Given the description of an element on the screen output the (x, y) to click on. 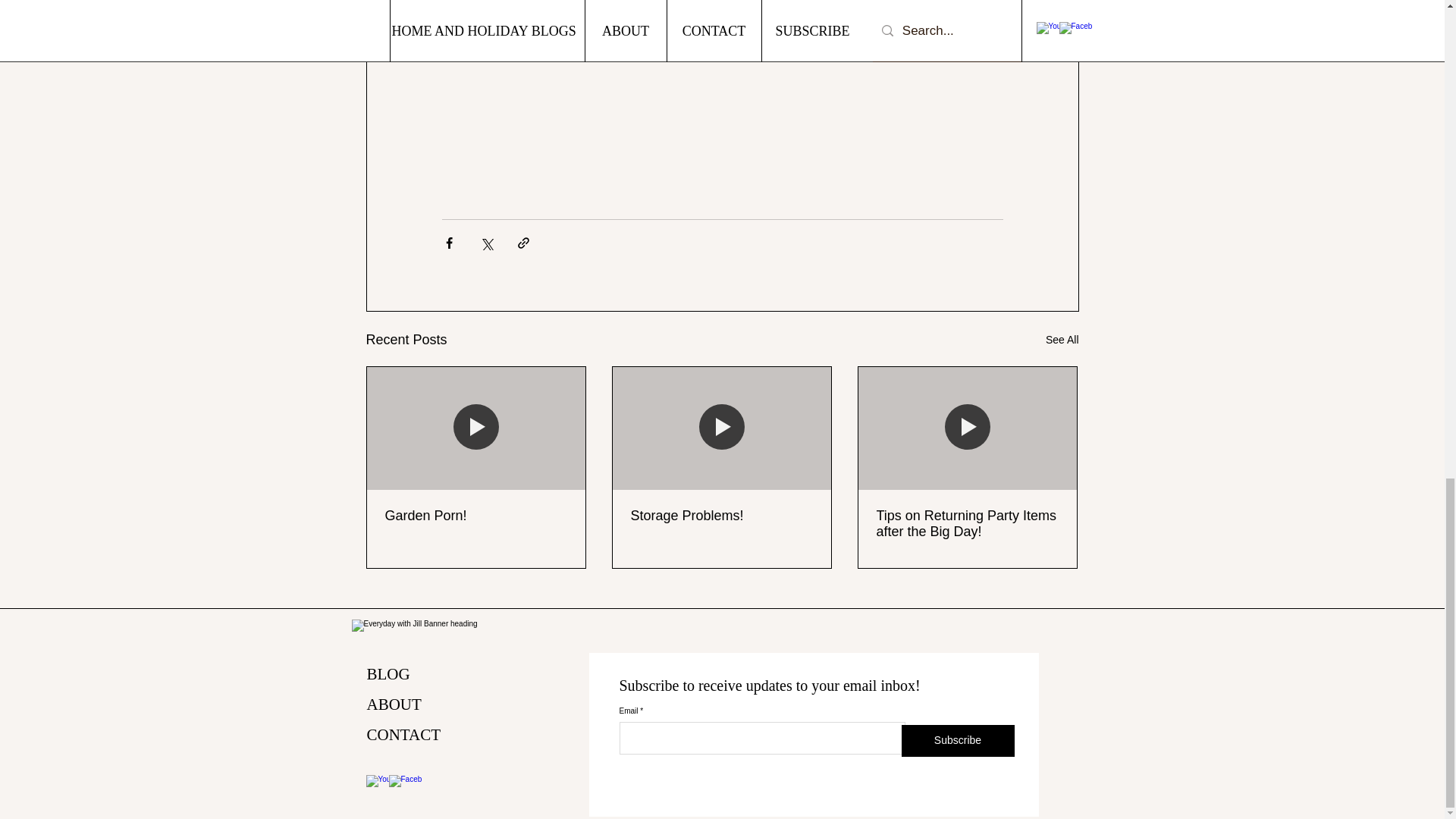
See All (1061, 340)
Storage Problems! (721, 515)
Garden Porn! (476, 515)
Subscribe (957, 740)
Tips on Returning Party Items after the Big Day! (967, 523)
BLOG (388, 674)
CONTACT (403, 734)
ABOUT (394, 704)
